Given the description of an element on the screen output the (x, y) to click on. 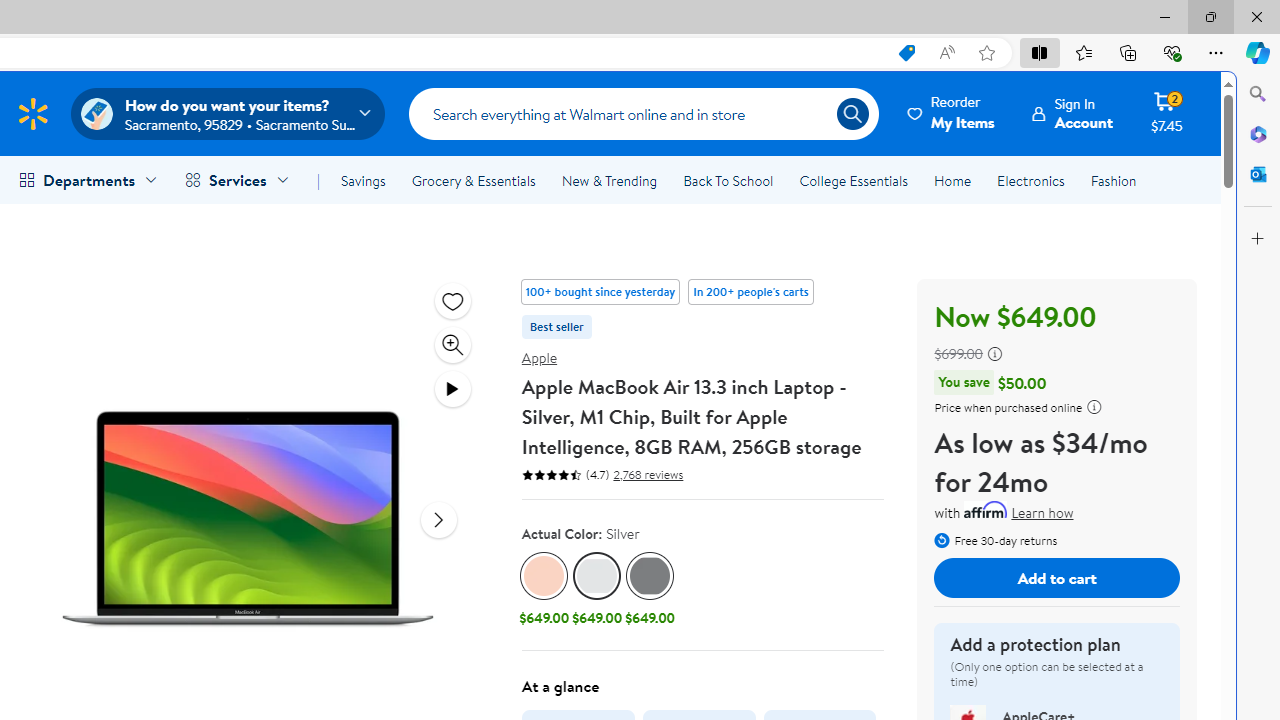
learn more about strikethrough prices (994, 353)
ReorderMy Items (952, 113)
Space Gray selected, Space Gray, $649.00 (650, 591)
Walmart Homepage (32, 113)
Learn how (1042, 513)
Back To School (728, 180)
Back To School (728, 180)
Apple (539, 357)
New & Trending (608, 180)
Sign InAccount (1072, 113)
